Given the description of an element on the screen output the (x, y) to click on. 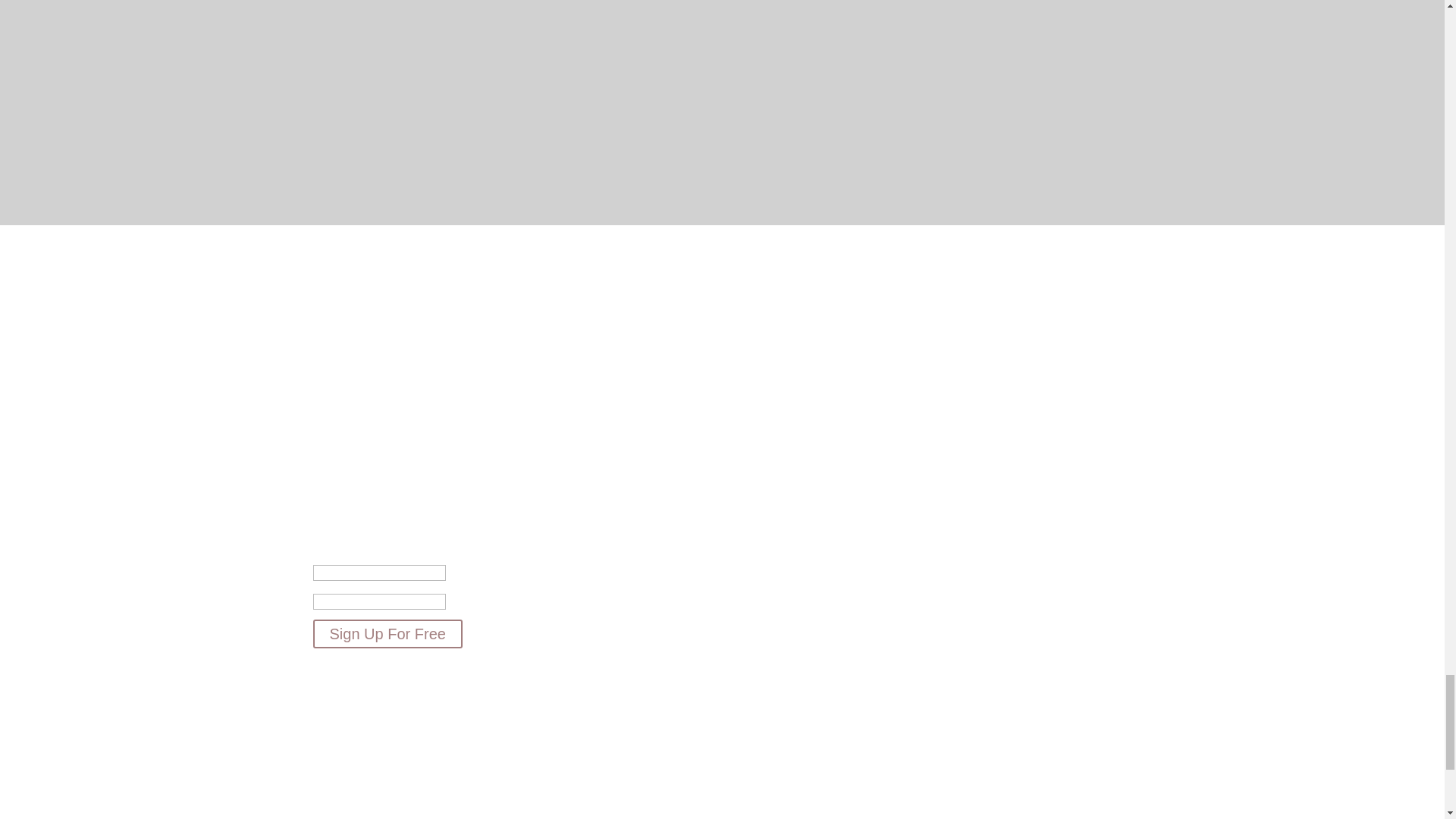
Sign Up For Free (387, 633)
